Given the description of an element on the screen output the (x, y) to click on. 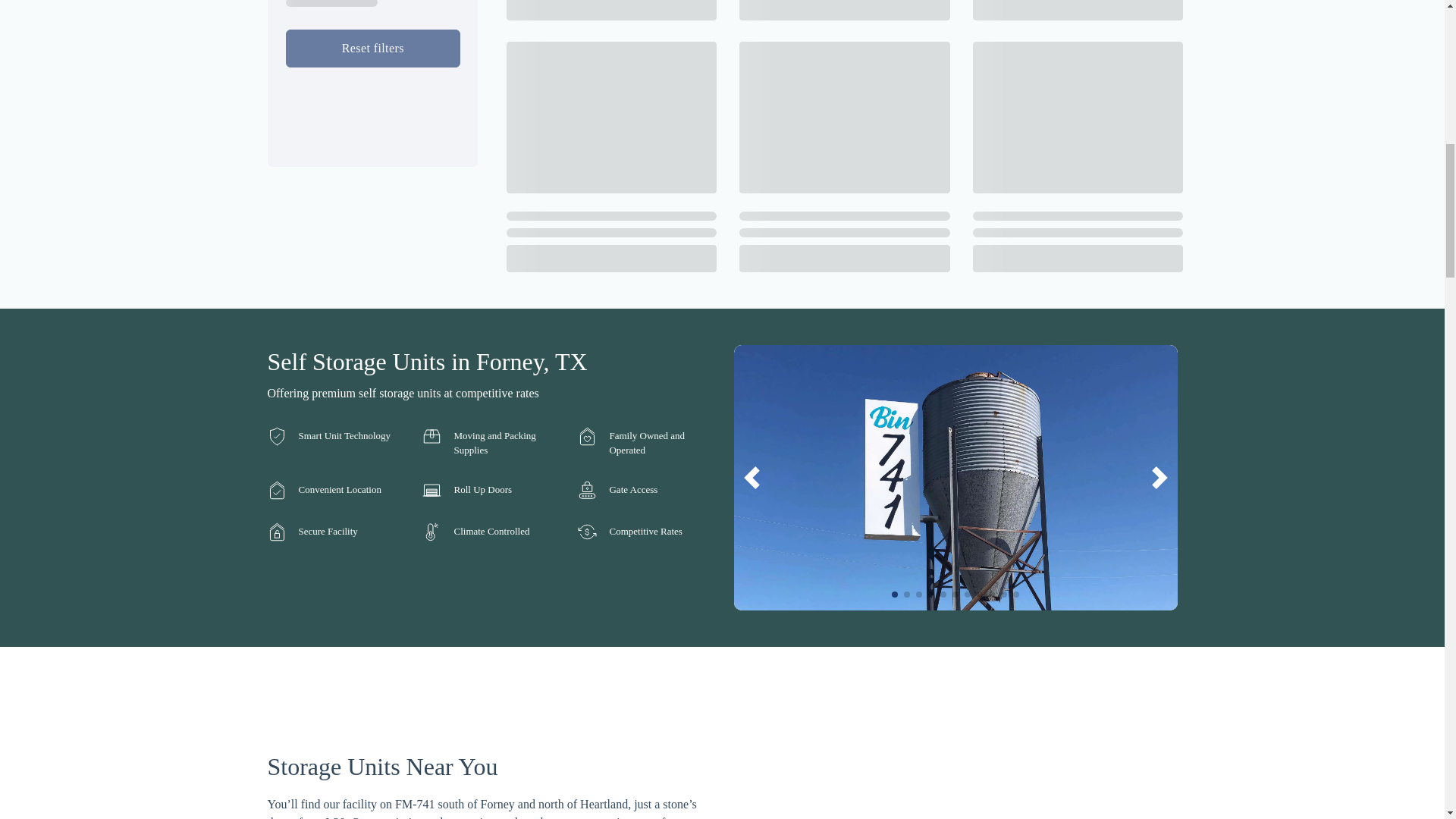
Reset filters (372, 48)
